Given the description of an element on the screen output the (x, y) to click on. 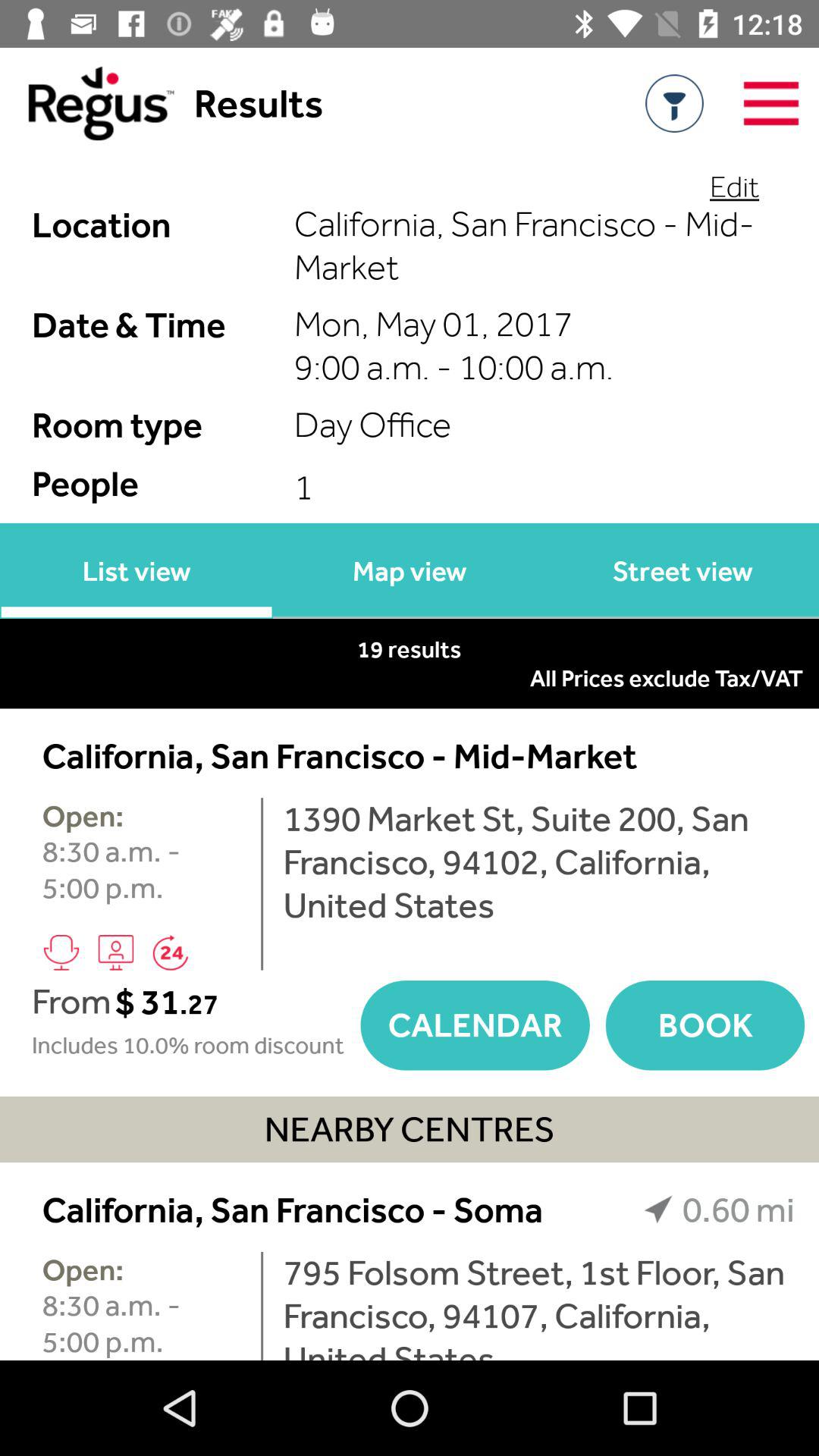
open the item below the california san francisco (262, 1305)
